Given the description of an element on the screen output the (x, y) to click on. 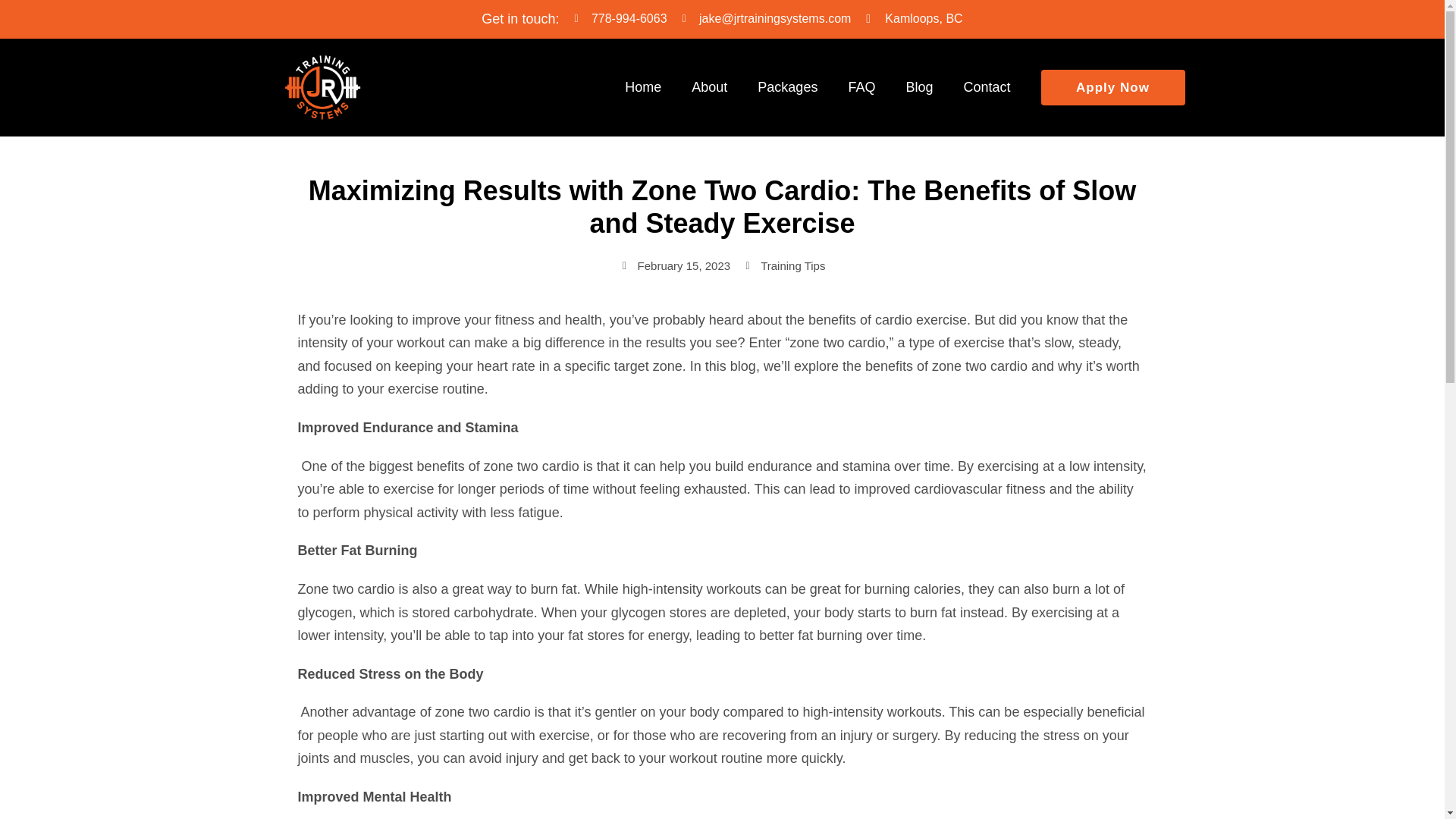
Blog (918, 86)
778-994-6063 (619, 19)
Contact (986, 86)
About (709, 86)
Packages (787, 86)
FAQ (860, 86)
February 15, 2023 (675, 266)
Apply Now (1113, 87)
Training Tips (792, 265)
Home (643, 86)
